Given the description of an element on the screen output the (x, y) to click on. 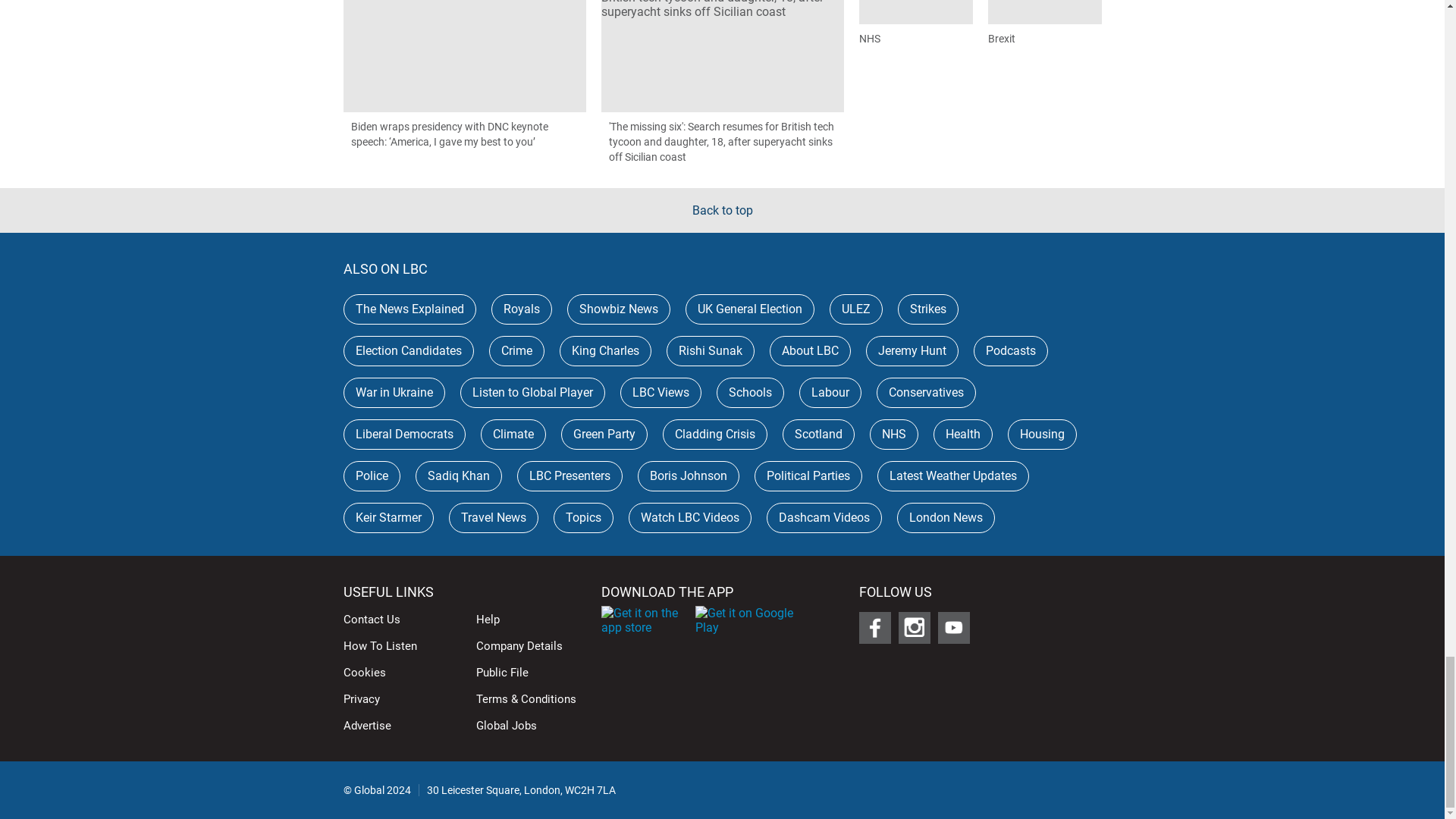
Back to top (721, 210)
Follow LBC on Facebook (874, 627)
Follow LBC on Youtube (953, 627)
Follow LBC on Instagram (914, 627)
